Given the description of an element on the screen output the (x, y) to click on. 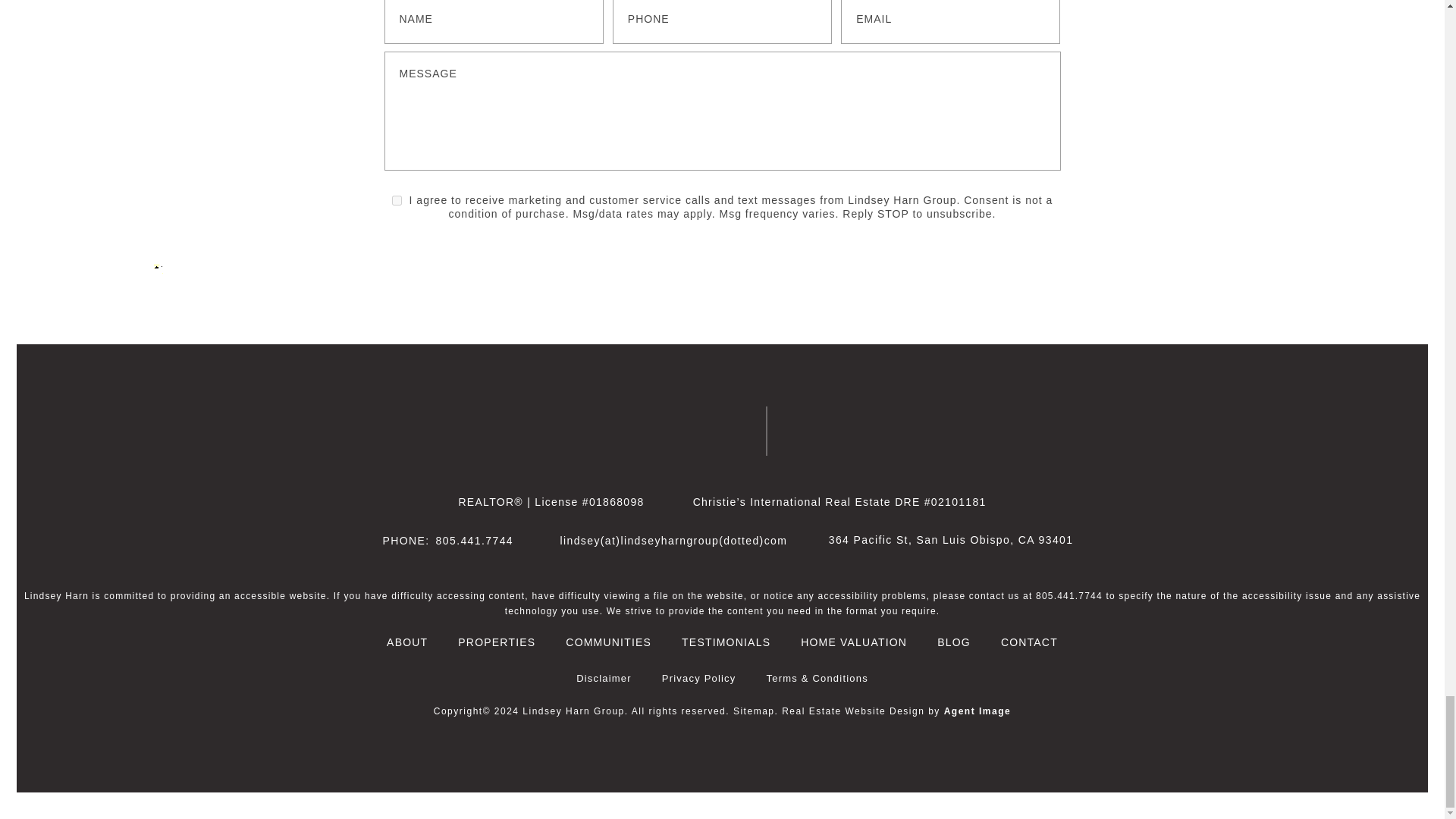
Submit (1029, 137)
